Given the description of an element on the screen output the (x, y) to click on. 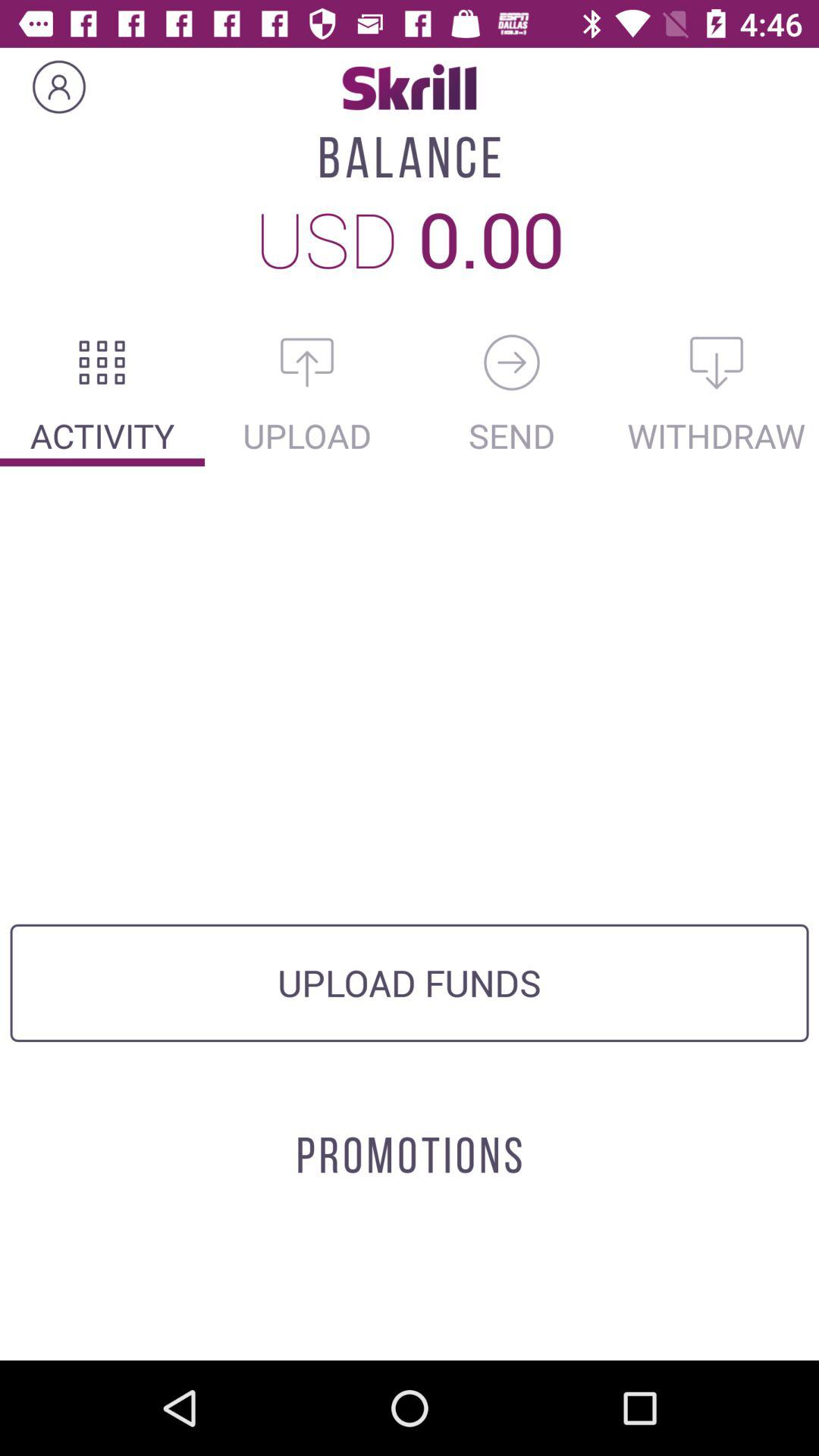
activity (102, 362)
